Given the description of an element on the screen output the (x, y) to click on. 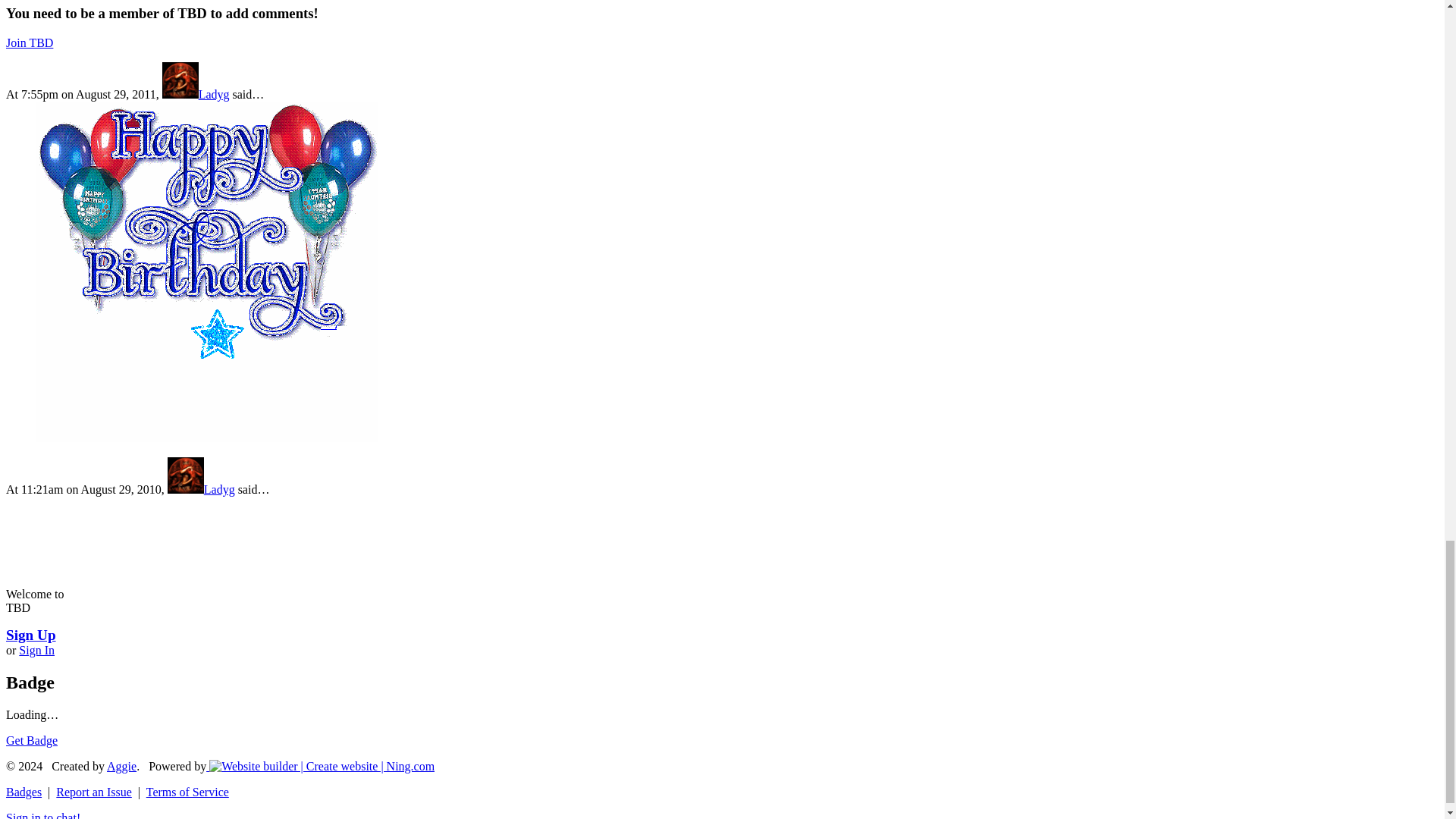
Sign Up (30, 634)
Ladyg (200, 489)
Ning Website Builder (321, 766)
Get Badge (31, 739)
Sign In (36, 649)
Join TBD (28, 42)
Aggie (121, 766)
Ladyg (195, 93)
